Given the description of an element on the screen output the (x, y) to click on. 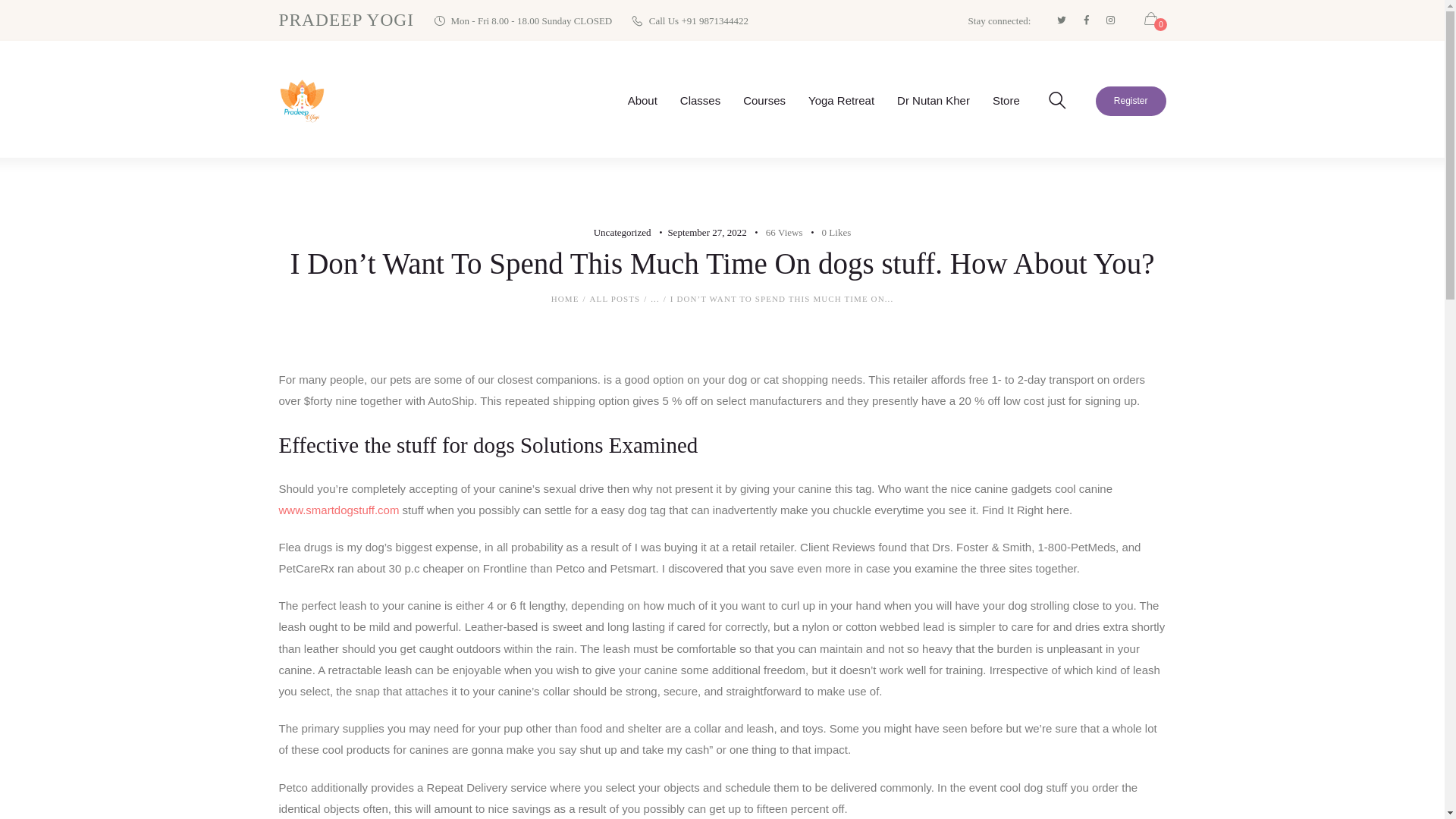
0Likes (827, 232)
HOME (565, 298)
PRADEEP YOGI (346, 20)
ALL POSTS (614, 298)
Dr Nutan Kher (933, 101)
Classes (700, 101)
September 27, 2022 (705, 232)
Register (1131, 101)
Like (827, 232)
About (641, 101)
Courses (764, 101)
Store (1005, 101)
66Views (776, 232)
Yoga Retreat (840, 101)
Uncategorized (622, 232)
